Given the description of an element on the screen output the (x, y) to click on. 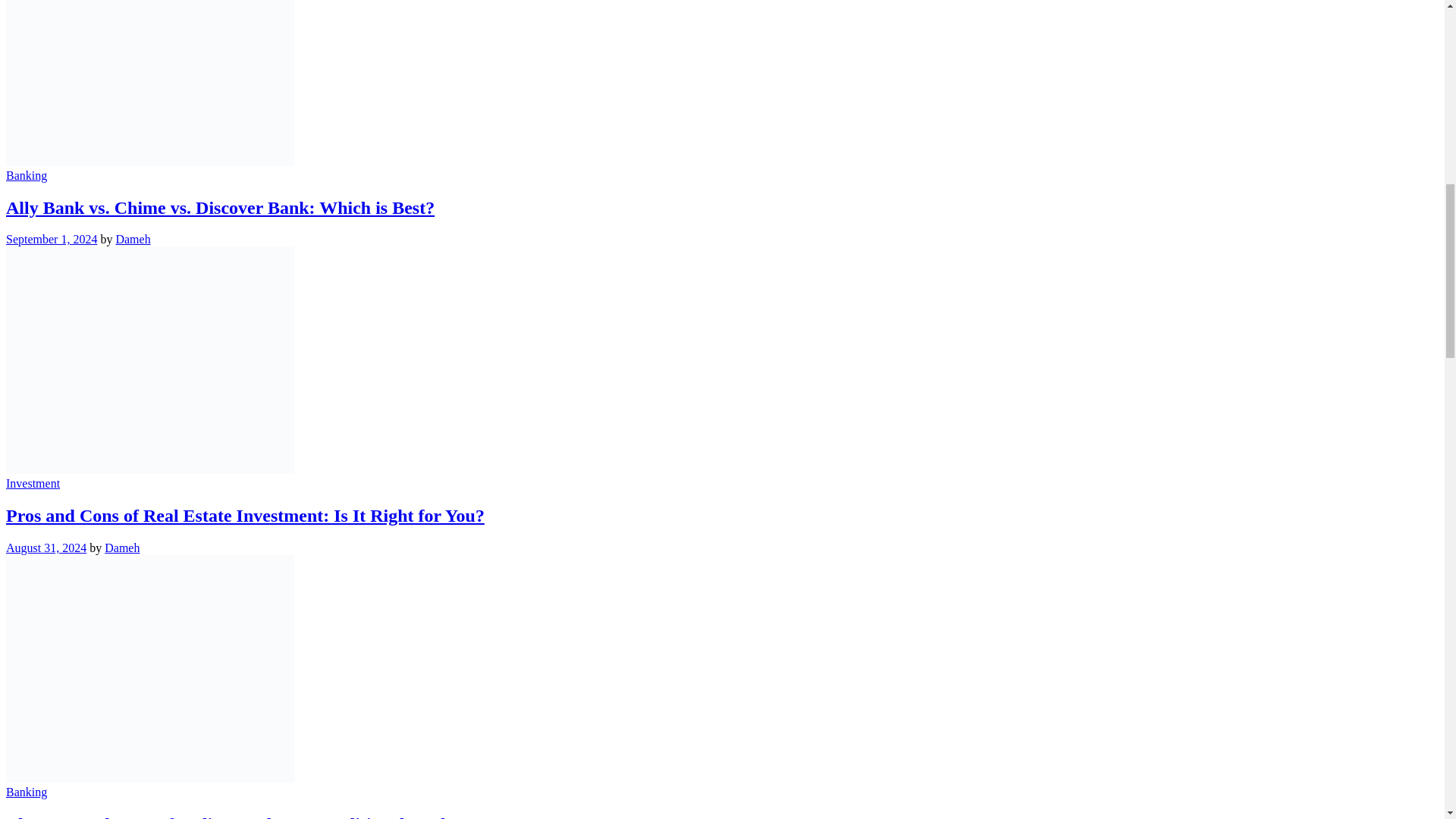
Investment (32, 482)
September 1, 2024 (51, 238)
Banking (25, 791)
Banking (25, 174)
Dameh (121, 547)
August 31, 2024 (45, 547)
Ally Bank vs. Chime vs. Discover Bank: Which is Best? (219, 207)
Dameh (132, 238)
